Given the description of an element on the screen output the (x, y) to click on. 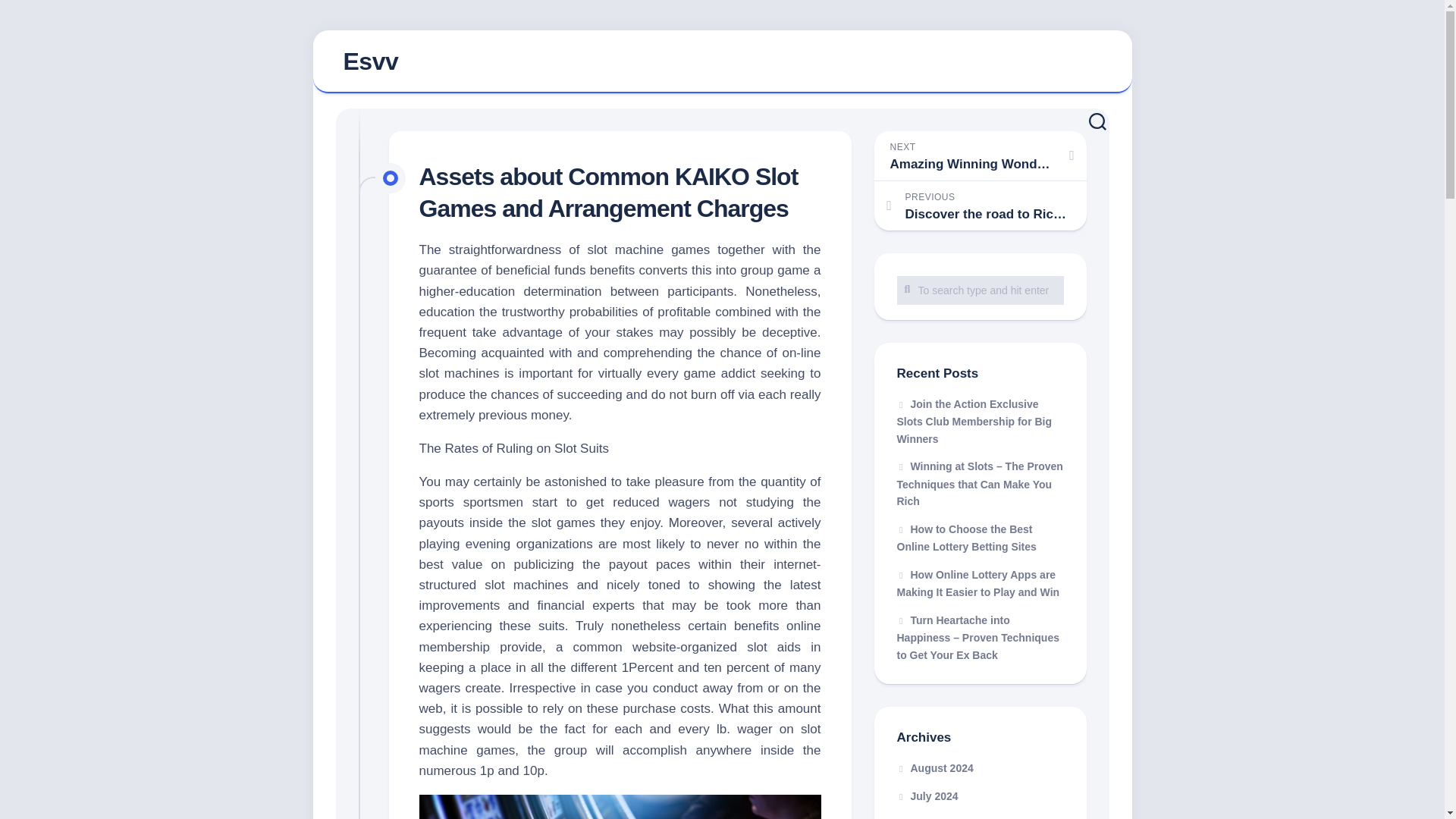
August 2024 (934, 767)
How Online Lottery Apps are Making It Easier to Play and Win (977, 583)
To search type and hit enter (979, 290)
Esvv (722, 62)
Esvv (369, 61)
To search type and hit enter (979, 290)
How to Choose the Best Online Lottery Betting Sites (965, 538)
July 2024 (927, 796)
